Given the description of an element on the screen output the (x, y) to click on. 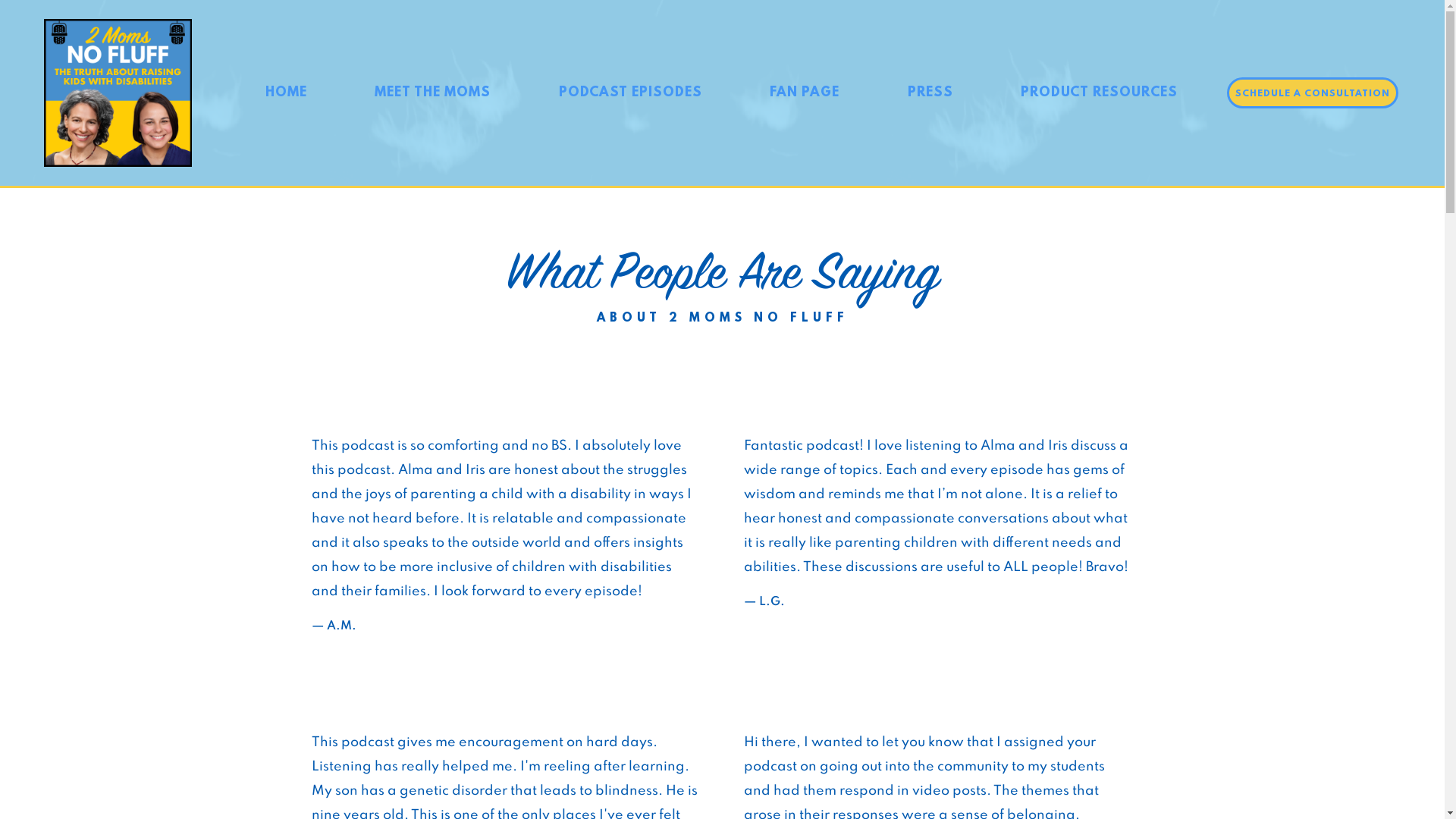
SCHEDULE A CONSULTATION Element type: text (1312, 93)
PODCAST EPISODES Element type: text (629, 93)
HOME Element type: text (285, 93)
PRESS Element type: text (929, 93)
MEET THE MOMS Element type: text (432, 93)
FAN PAGE Element type: text (804, 93)
PRODUCT RESOURCES Element type: text (1099, 93)
